Given the description of an element on the screen output the (x, y) to click on. 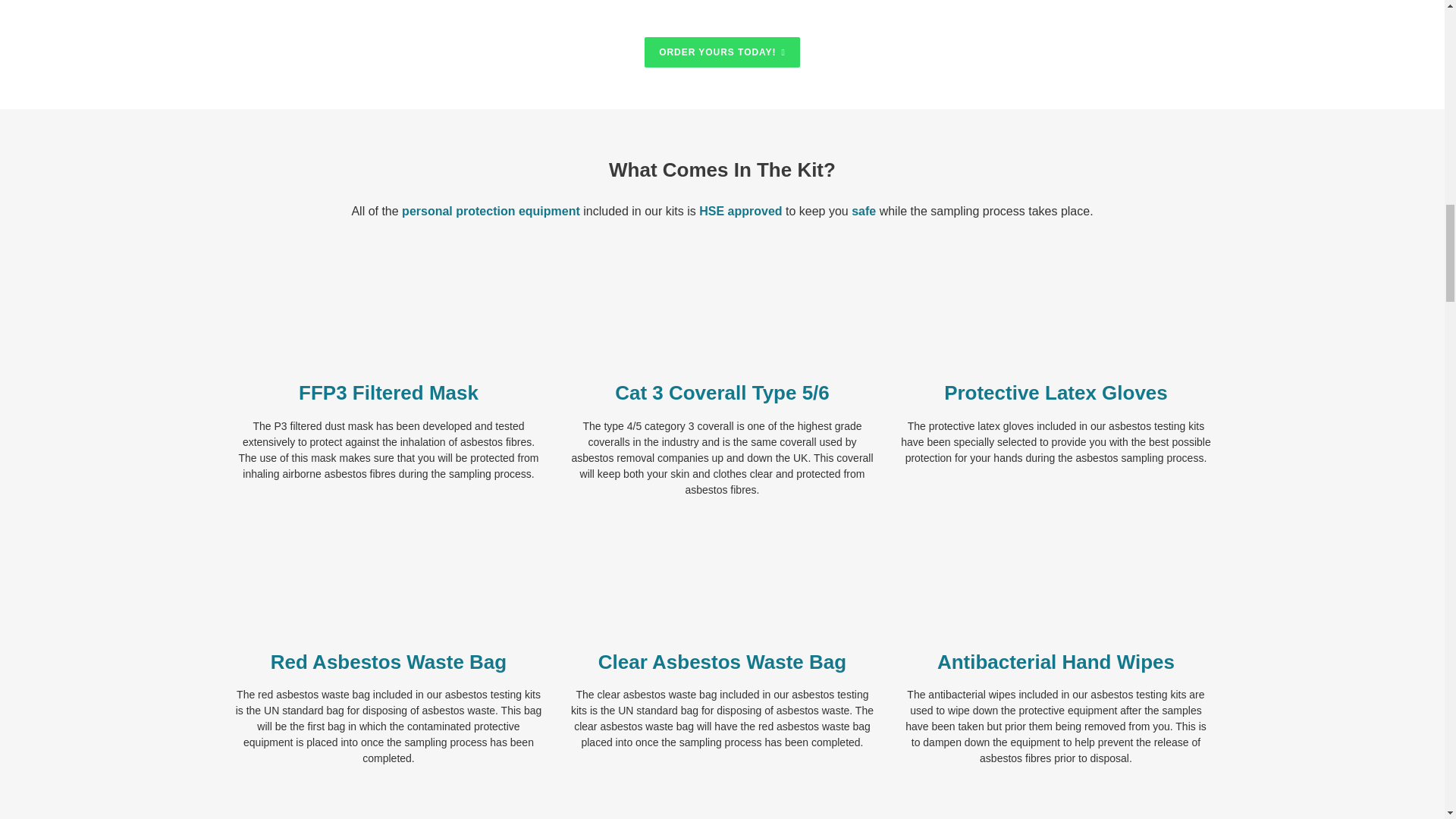
ORDER YOURS TODAY! (722, 51)
